Given the description of an element on the screen output the (x, y) to click on. 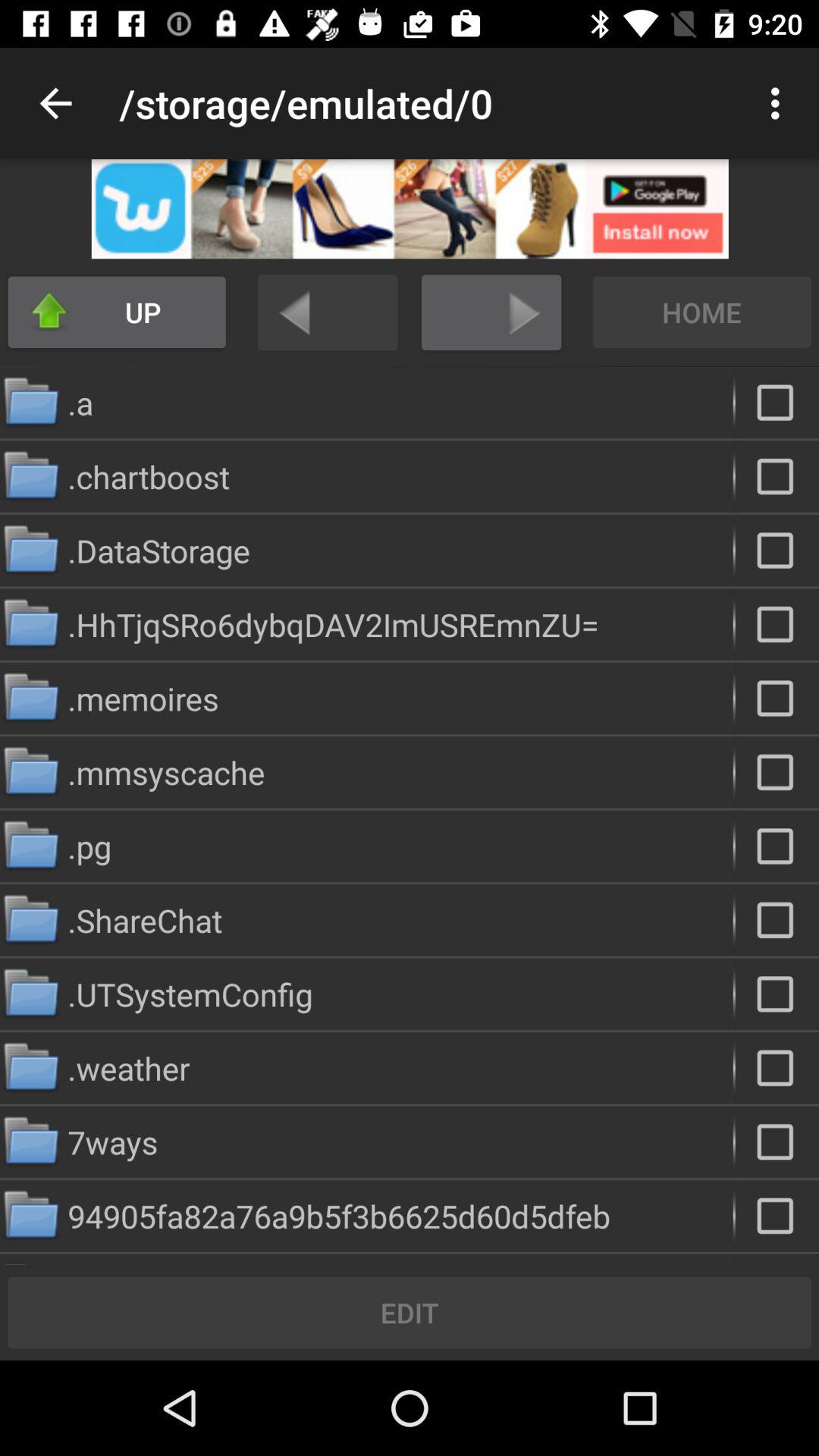
select item (777, 772)
